Given the description of an element on the screen output the (x, y) to click on. 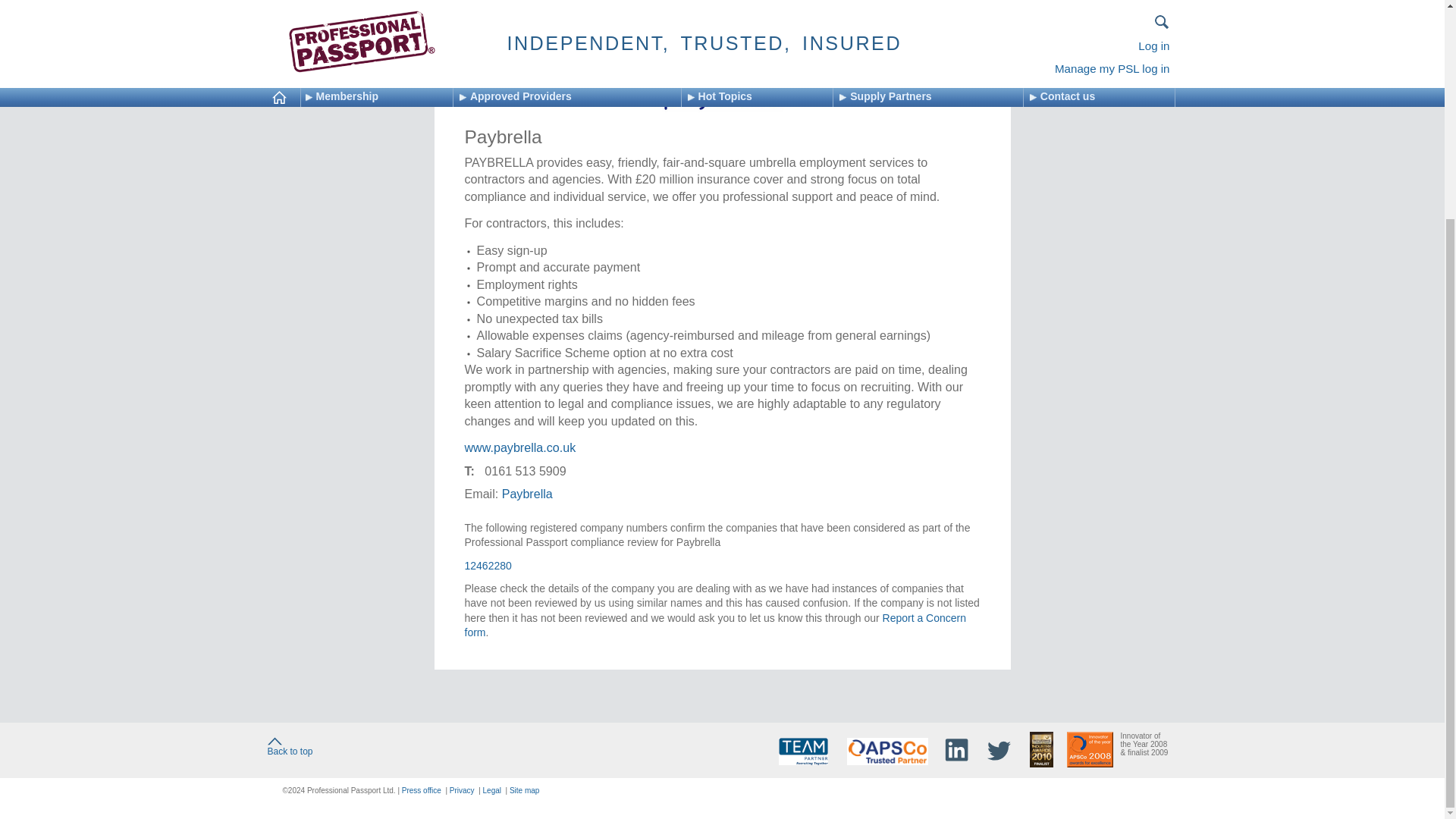
Overseas Services (660, 0)
Tax Investigations (799, 0)
